Given the description of an element on the screen output the (x, y) to click on. 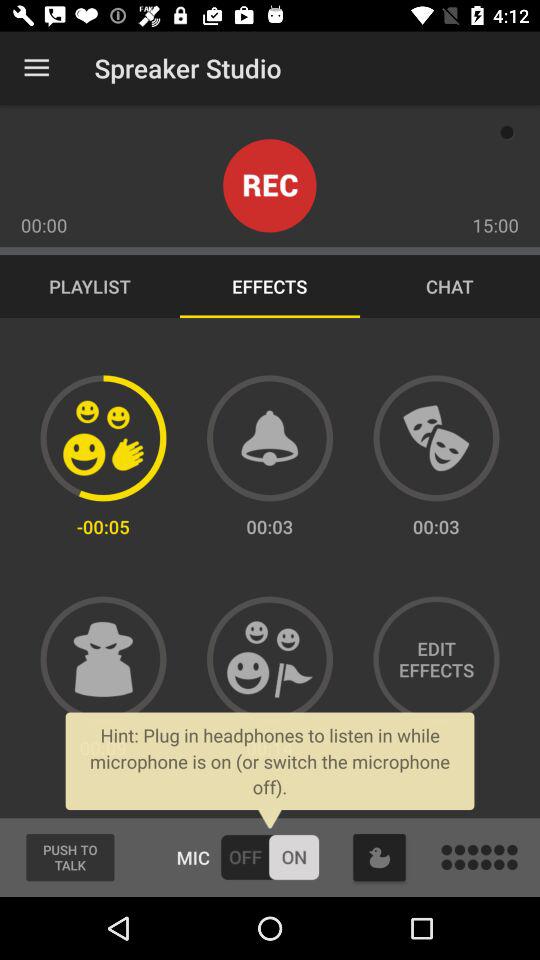
plays audio clip (436, 438)
